Given the description of an element on the screen output the (x, y) to click on. 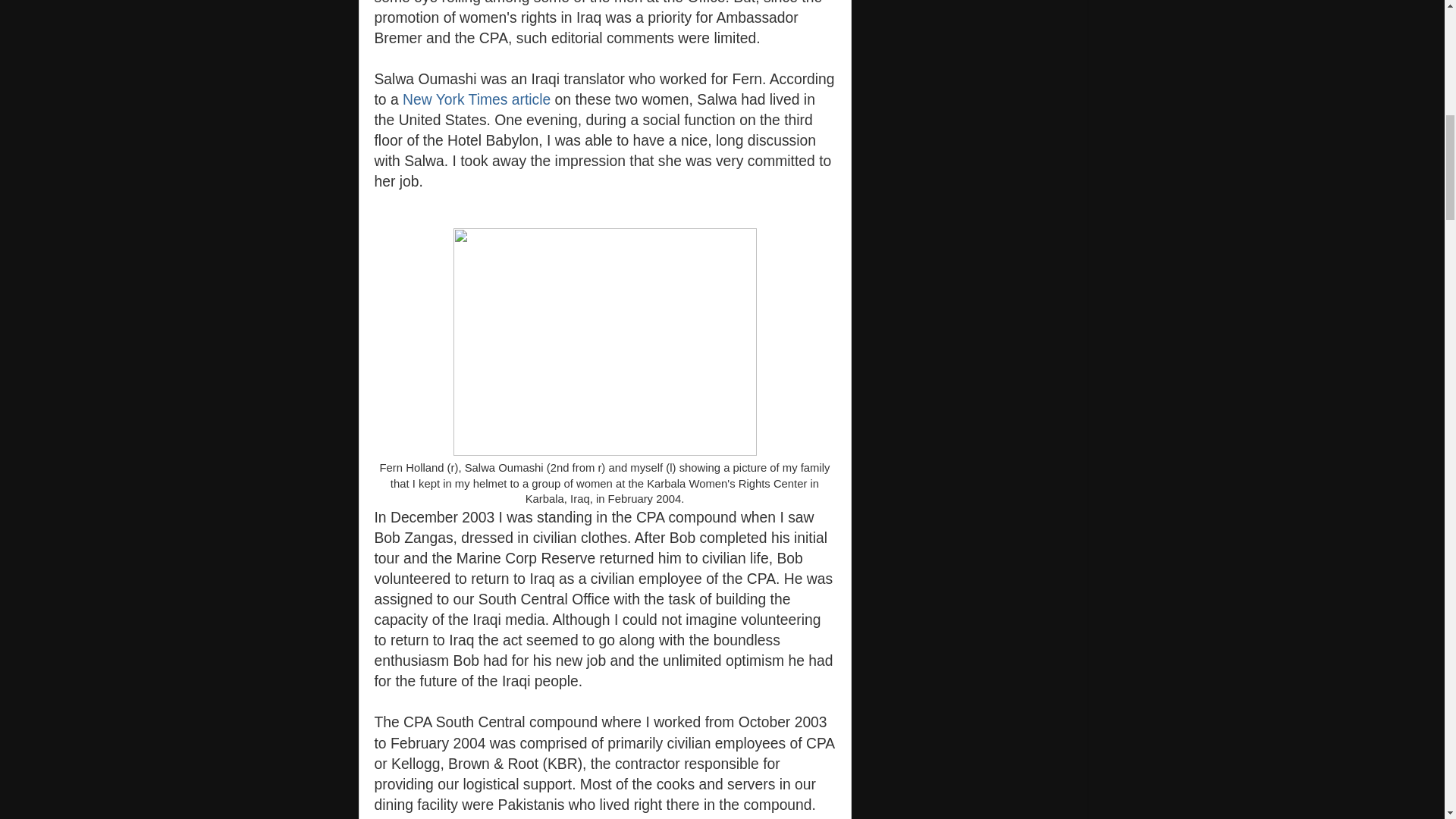
New York Times article (476, 101)
